Given the description of an element on the screen output the (x, y) to click on. 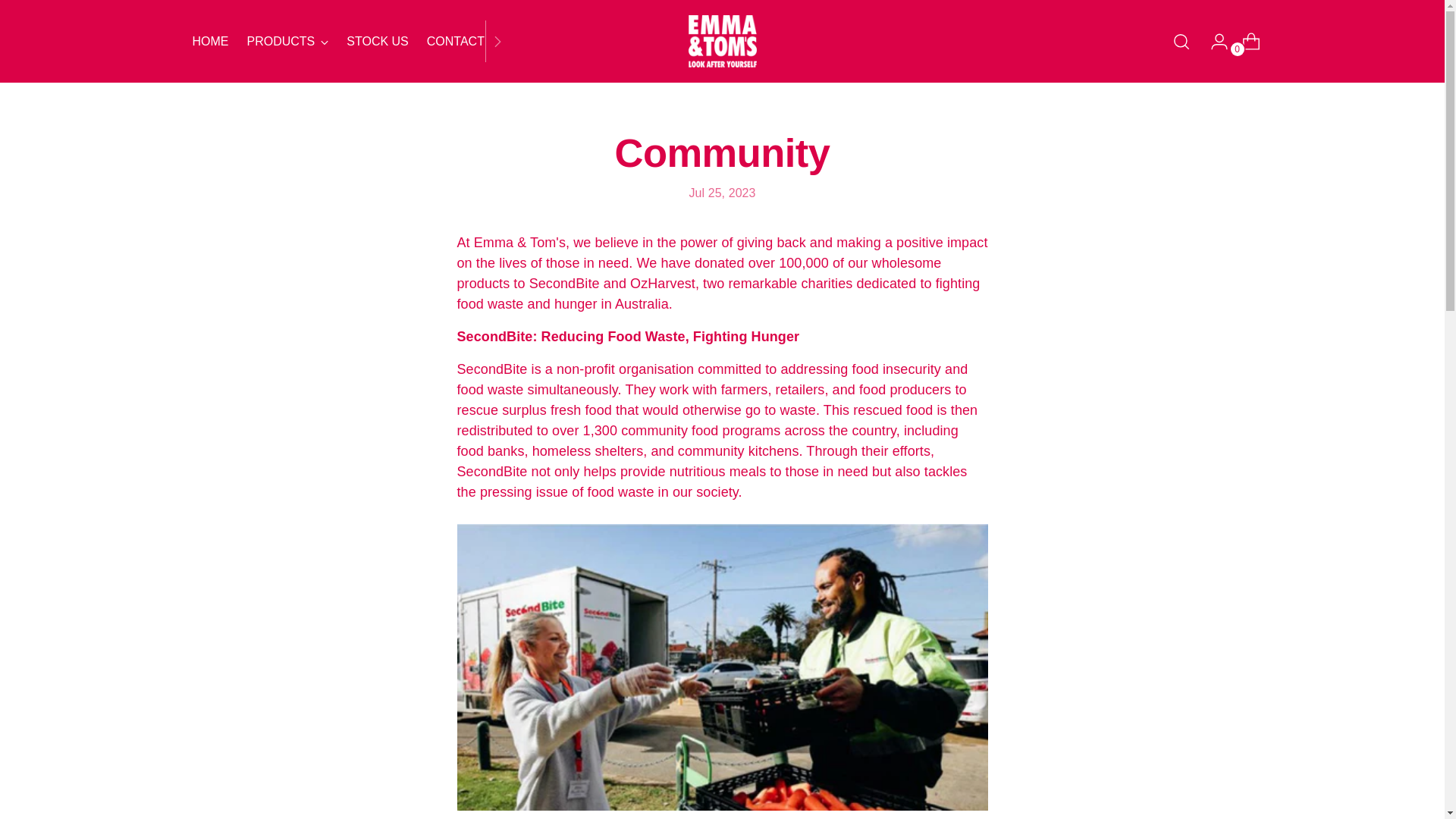
0 (1245, 41)
HOME (210, 41)
STOCK US (377, 41)
PRODUCTS (288, 41)
CONTACT (349, 41)
